Given the description of an element on the screen output the (x, y) to click on. 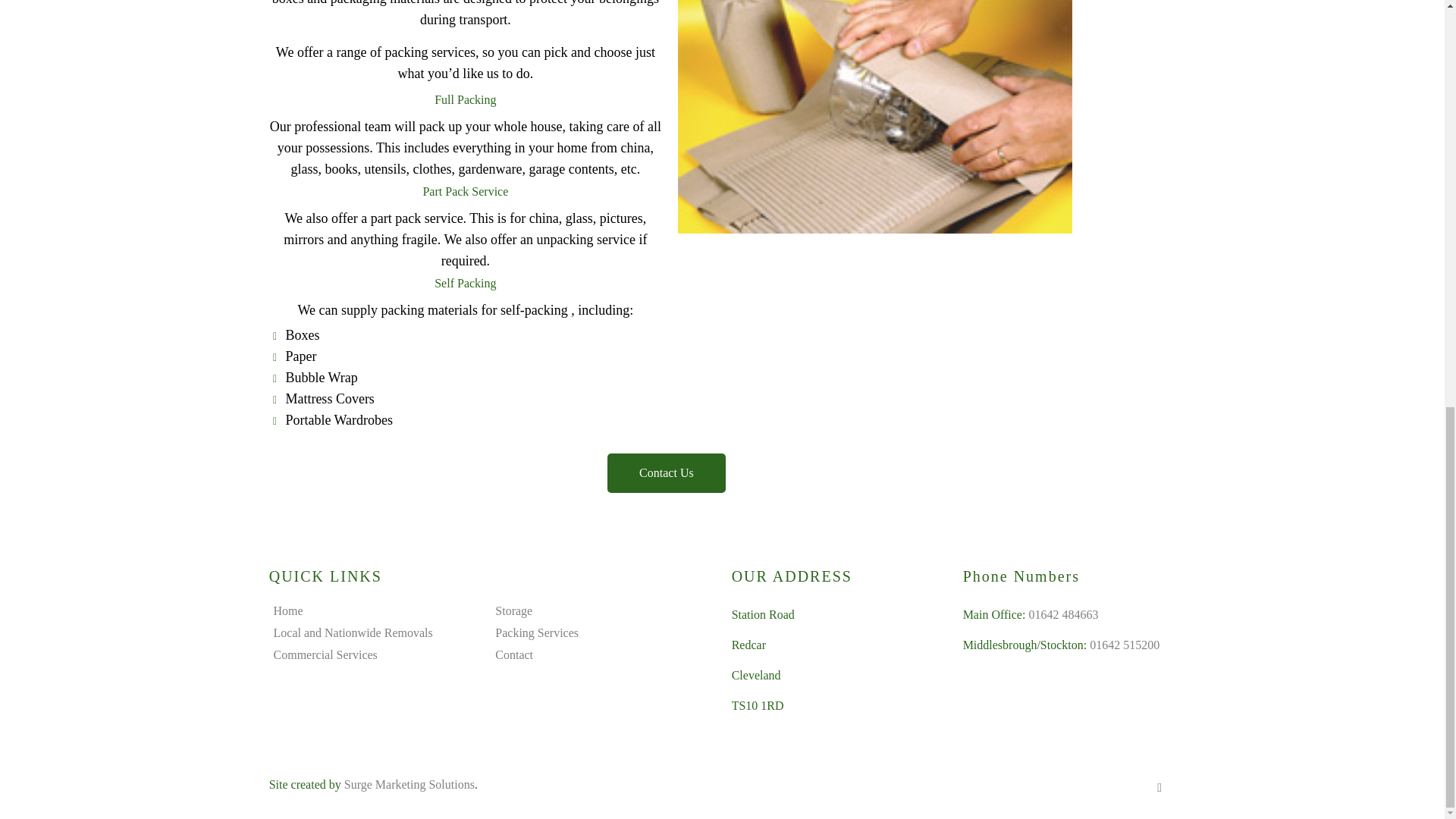
01642 484663 (1062, 614)
Commercial Services (325, 654)
01642 515200 (1123, 644)
Contact Us (666, 473)
Local and Nationwide Removals (352, 632)
Storage (513, 610)
Packing Services (536, 632)
Home (287, 610)
Contact (513, 654)
